Given the description of an element on the screen output the (x, y) to click on. 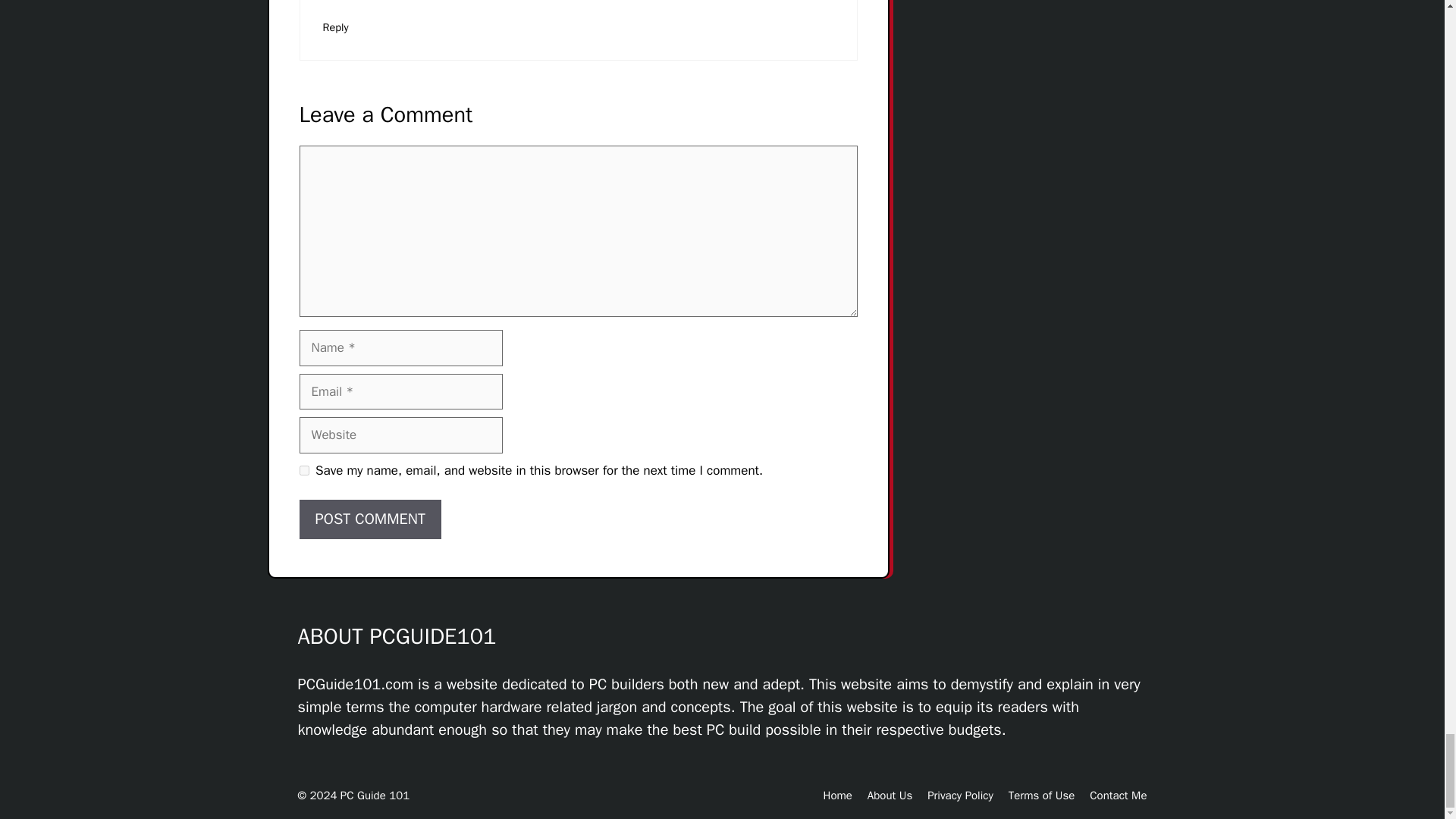
Post Comment (369, 518)
yes (303, 470)
Reply (336, 27)
Post Comment (369, 518)
